Given the description of an element on the screen output the (x, y) to click on. 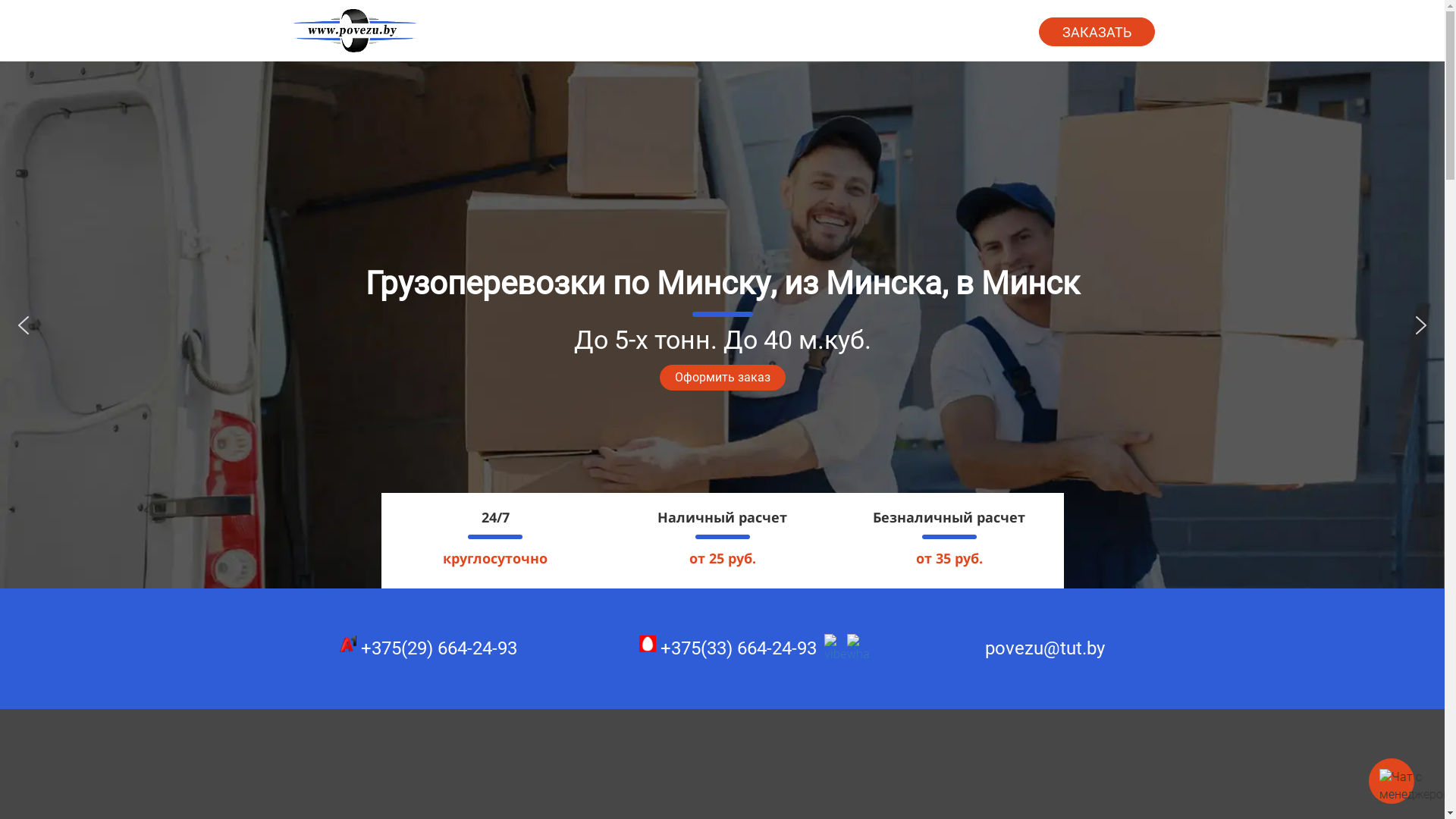
+375(29) 664-24-93 Element type: text (428, 648)
+375(33) 664-24-93 Element type: text (727, 648)
